Given the description of an element on the screen output the (x, y) to click on. 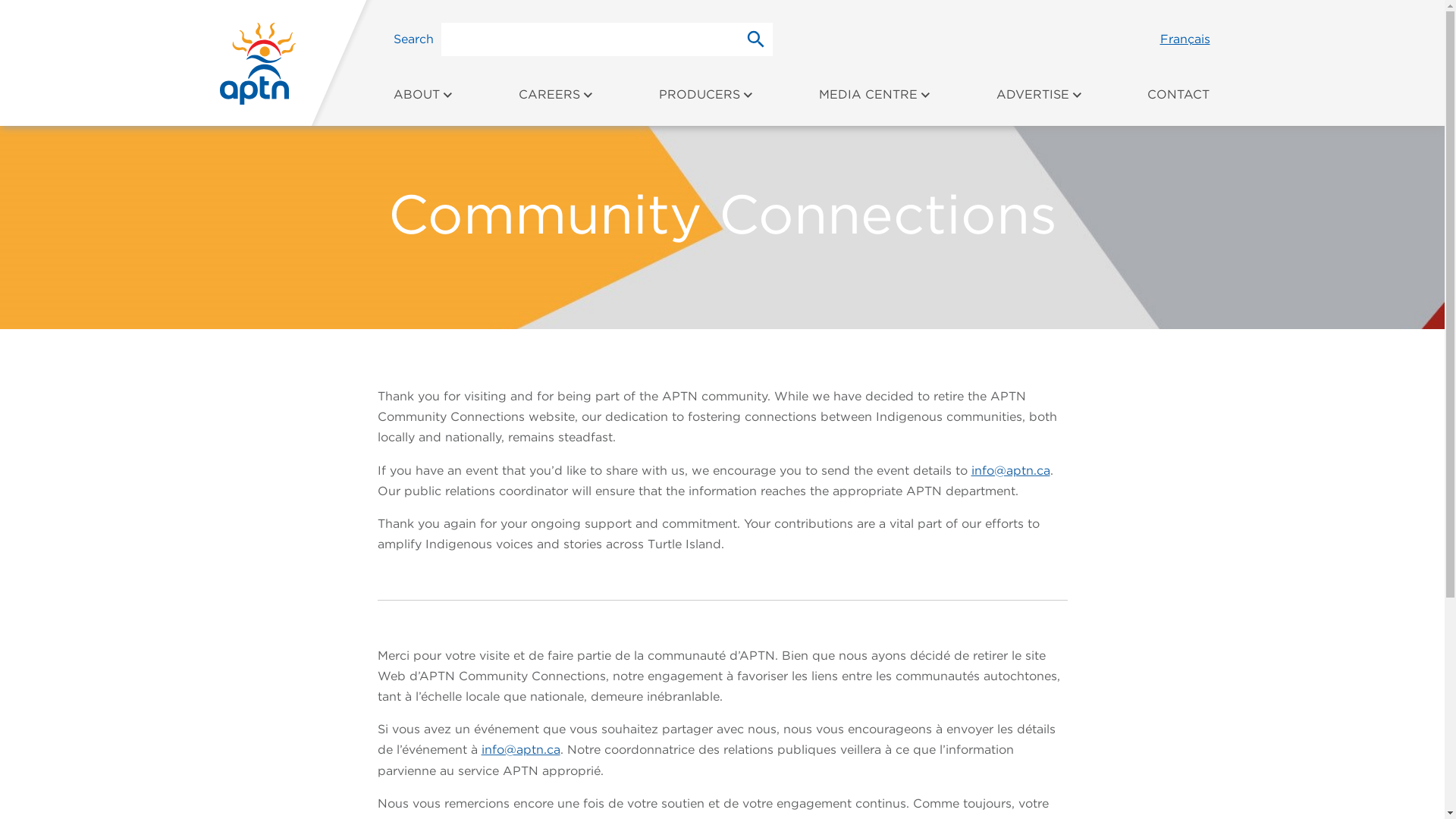
MEDIA CENTRE Element type: text (875, 101)
CAREERS Element type: text (555, 101)
ADVERTISE Element type: text (1039, 101)
Search Element type: text (755, 39)
info@aptn.ca Element type: text (1009, 470)
CONTACT Element type: text (1178, 101)
PRODUCERS Element type: text (705, 101)
ABOUT Element type: text (423, 101)
info@aptn.ca Element type: text (519, 749)
